Given the description of an element on the screen output the (x, y) to click on. 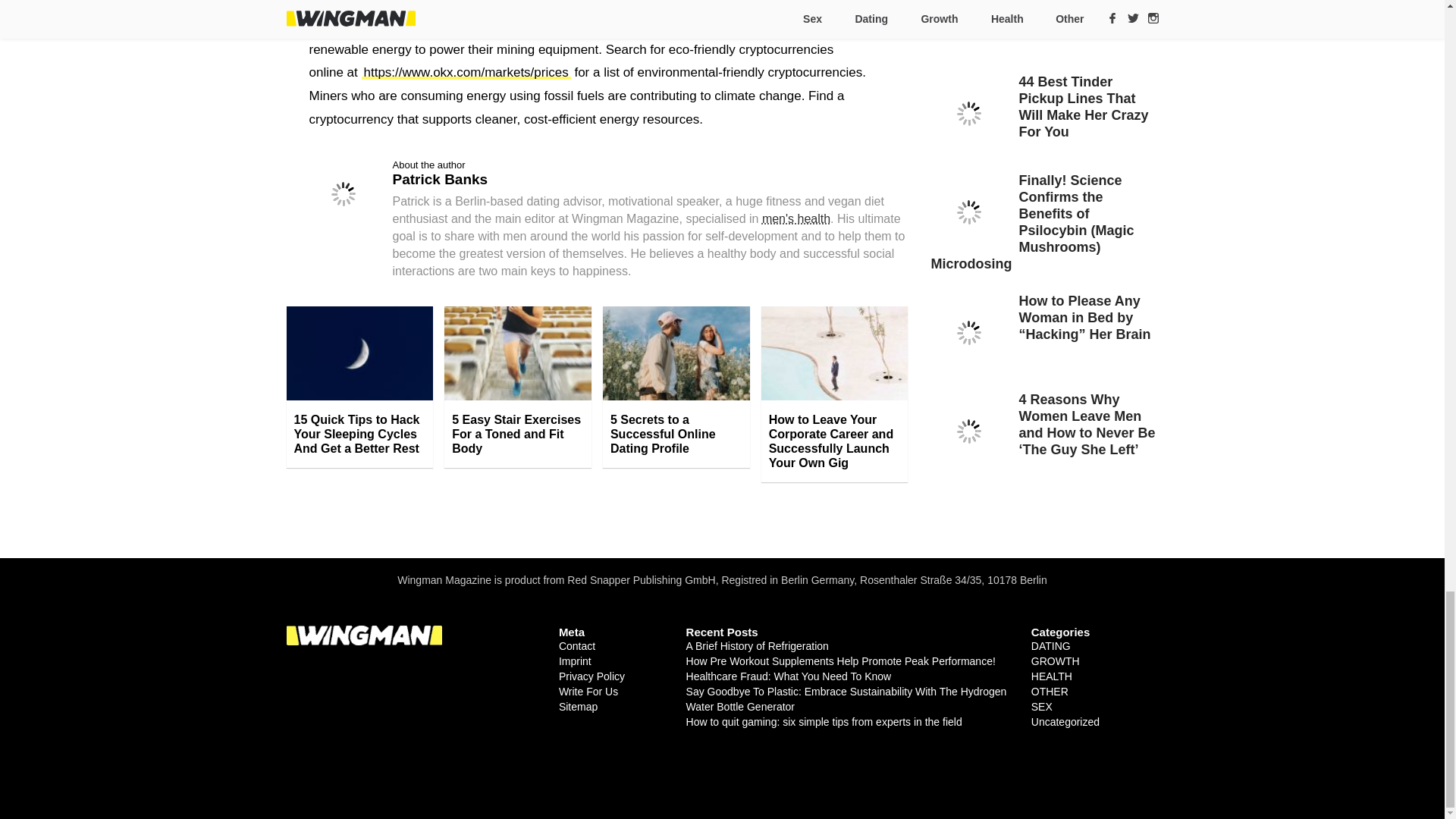
men's health (795, 218)
5 Secrets to a Successful Online Dating Profile (675, 434)
5 Easy Stair Exercises For a Toned and Fit Body (517, 434)
